Given the description of an element on the screen output the (x, y) to click on. 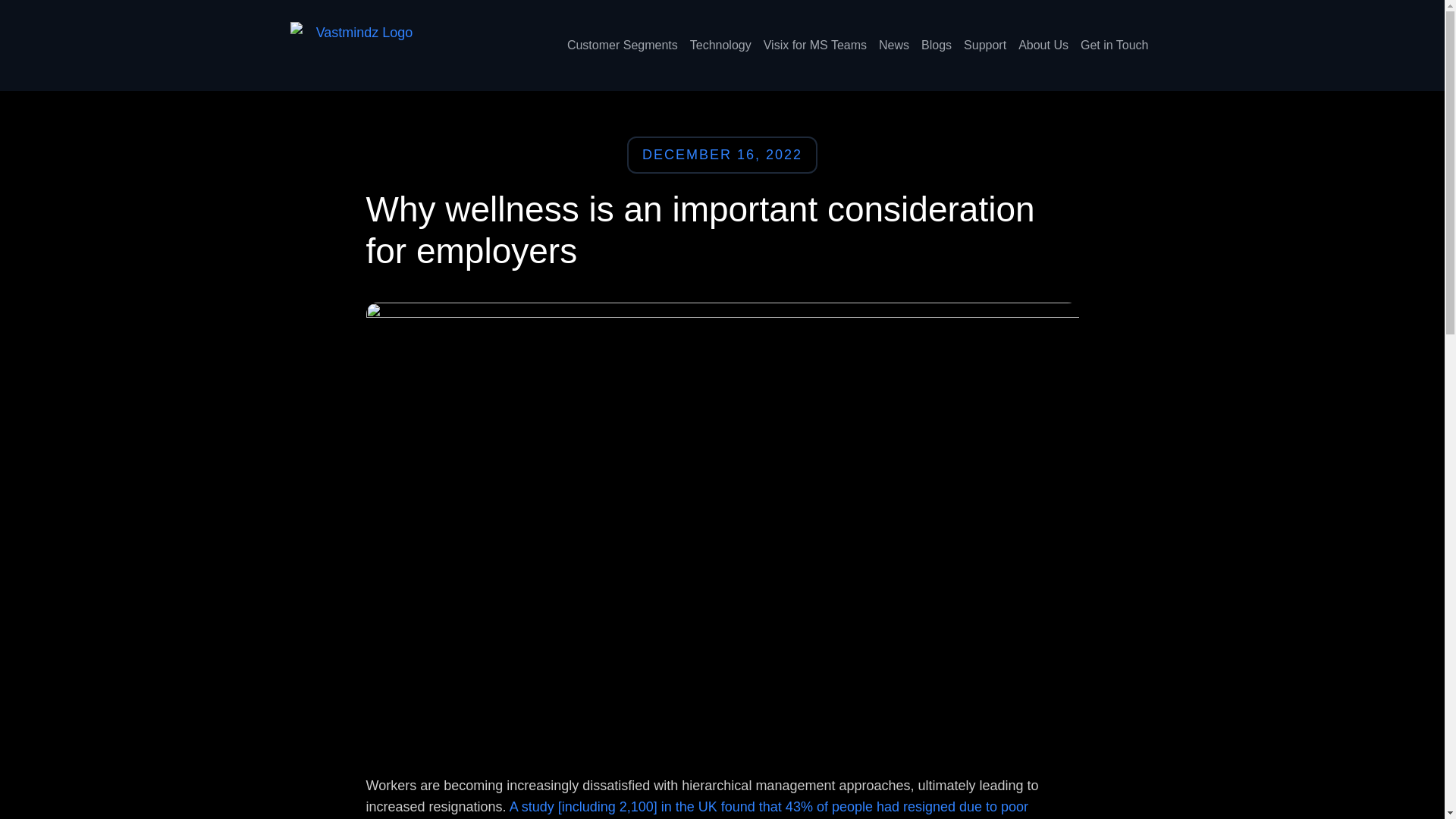
Customer Segments (622, 44)
Blogs (936, 44)
Get in Touch (1114, 44)
Visix for MS Teams (814, 44)
Support (984, 44)
Technology (720, 44)
About Us (1042, 44)
News (893, 44)
